Given the description of an element on the screen output the (x, y) to click on. 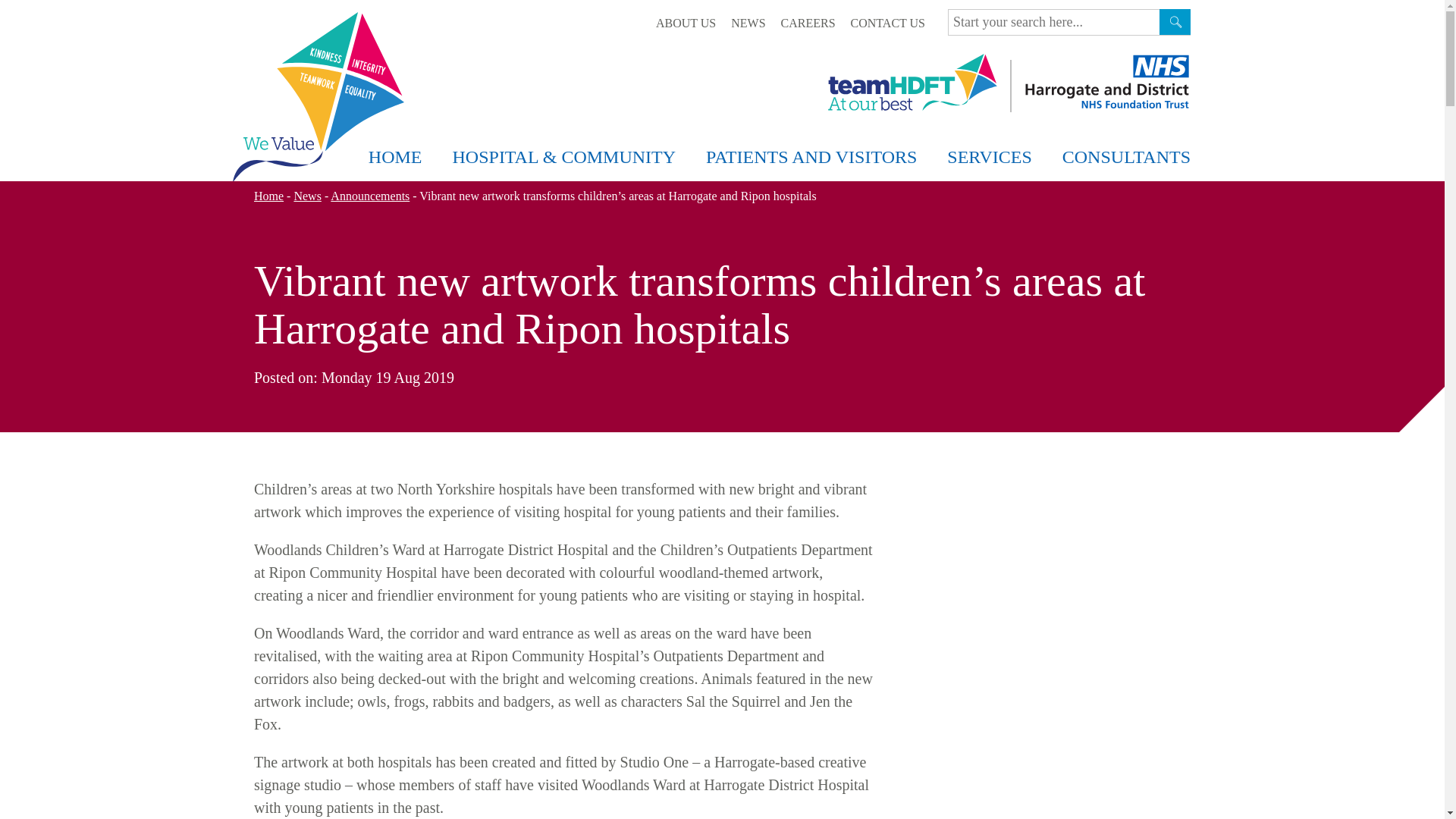
Go to News. (307, 195)
ABOUT US (685, 22)
HOME (395, 158)
Team HDFT, at our best (912, 82)
CONTACT US (888, 22)
NEWS (748, 22)
Go to the Announcements category archives. (369, 195)
Harrogate and District NHS Foundation Trust (1106, 82)
Go to Harrogate and District NHS Foundation Trust. (268, 195)
CAREERS (808, 22)
